Given the description of an element on the screen output the (x, y) to click on. 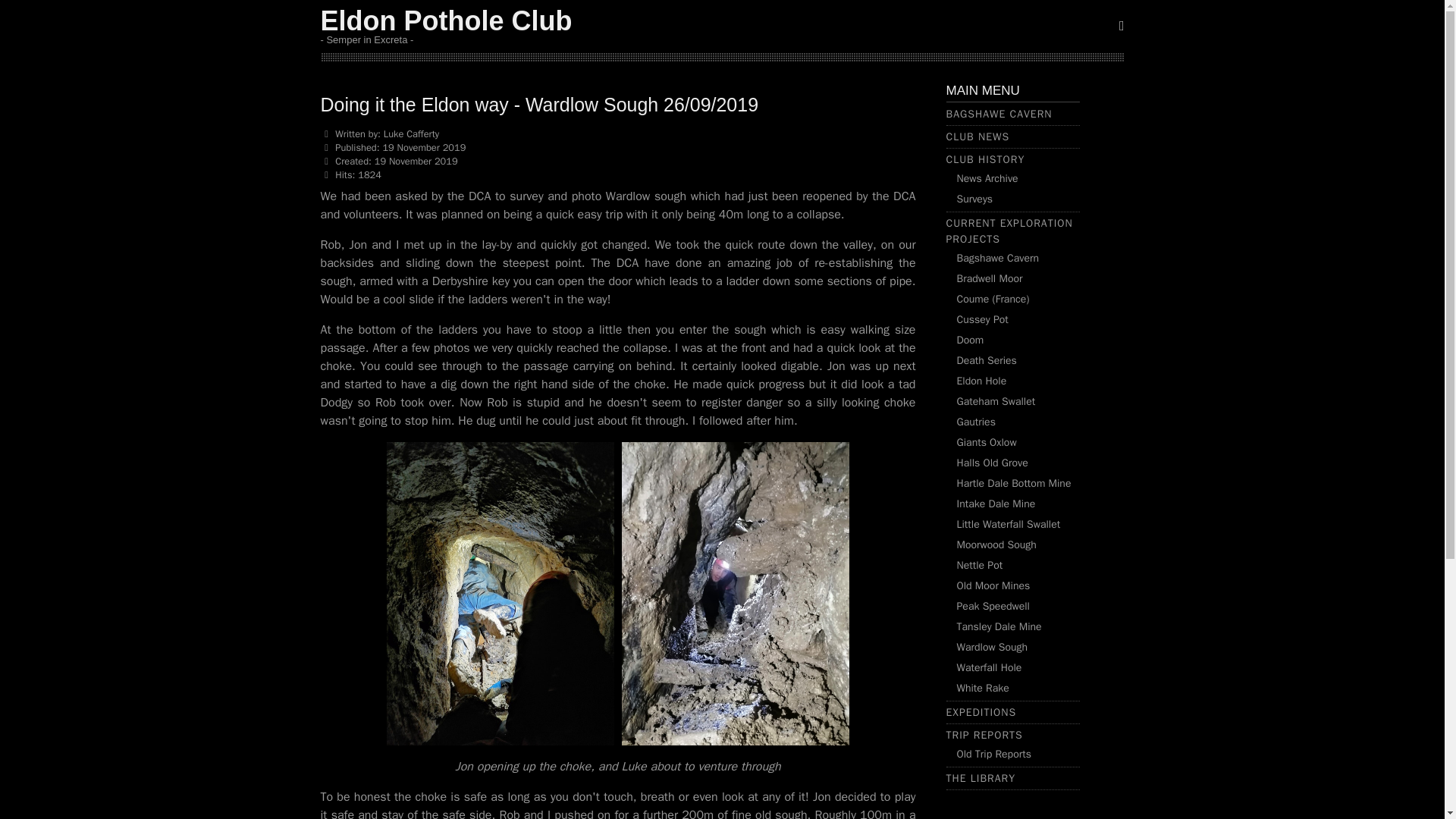
Peak Speedwell (992, 605)
White Rake (982, 687)
Little Waterfall Swallet (1008, 523)
Doom (970, 339)
Bagshawe Cavern (997, 257)
Hartle Dale Bottom Mine (1013, 482)
Cussey Pot (982, 318)
Intake Dale Mine (995, 503)
Eldon Hole (981, 380)
Wardlow Sough (991, 646)
Death Series (986, 359)
Eldon Pothole Club (446, 20)
THE LIBRARY (981, 778)
Halls Old Grove (991, 462)
Tansley Dale Mine (999, 626)
